Given the description of an element on the screen output the (x, y) to click on. 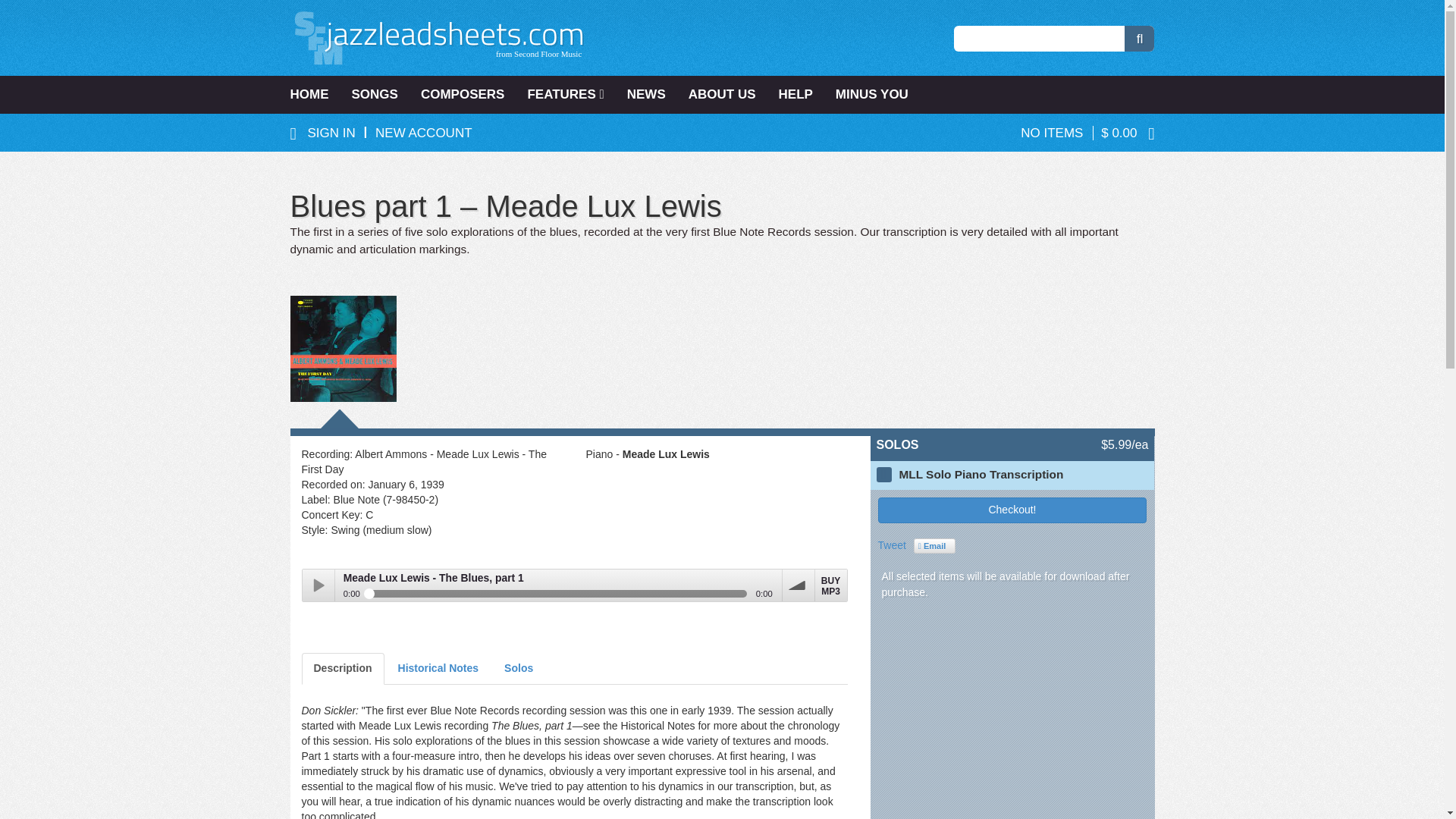
COMPOSERS (462, 94)
FEATURES (564, 94)
SONGS (374, 94)
HOME (314, 94)
Search (1139, 38)
